Given the description of an element on the screen output the (x, y) to click on. 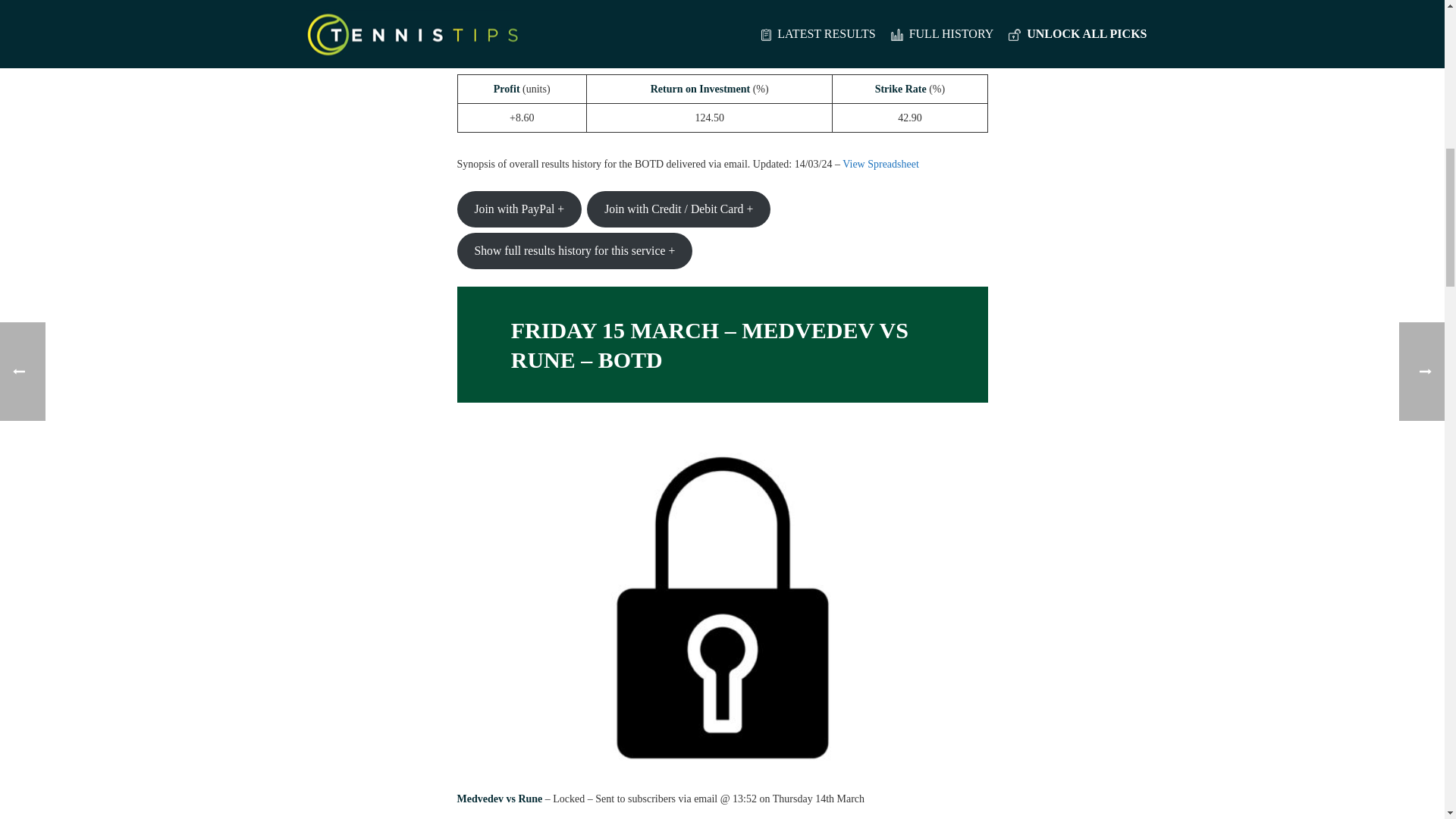
View Spreadsheet (880, 163)
